Given the description of an element on the screen output the (x, y) to click on. 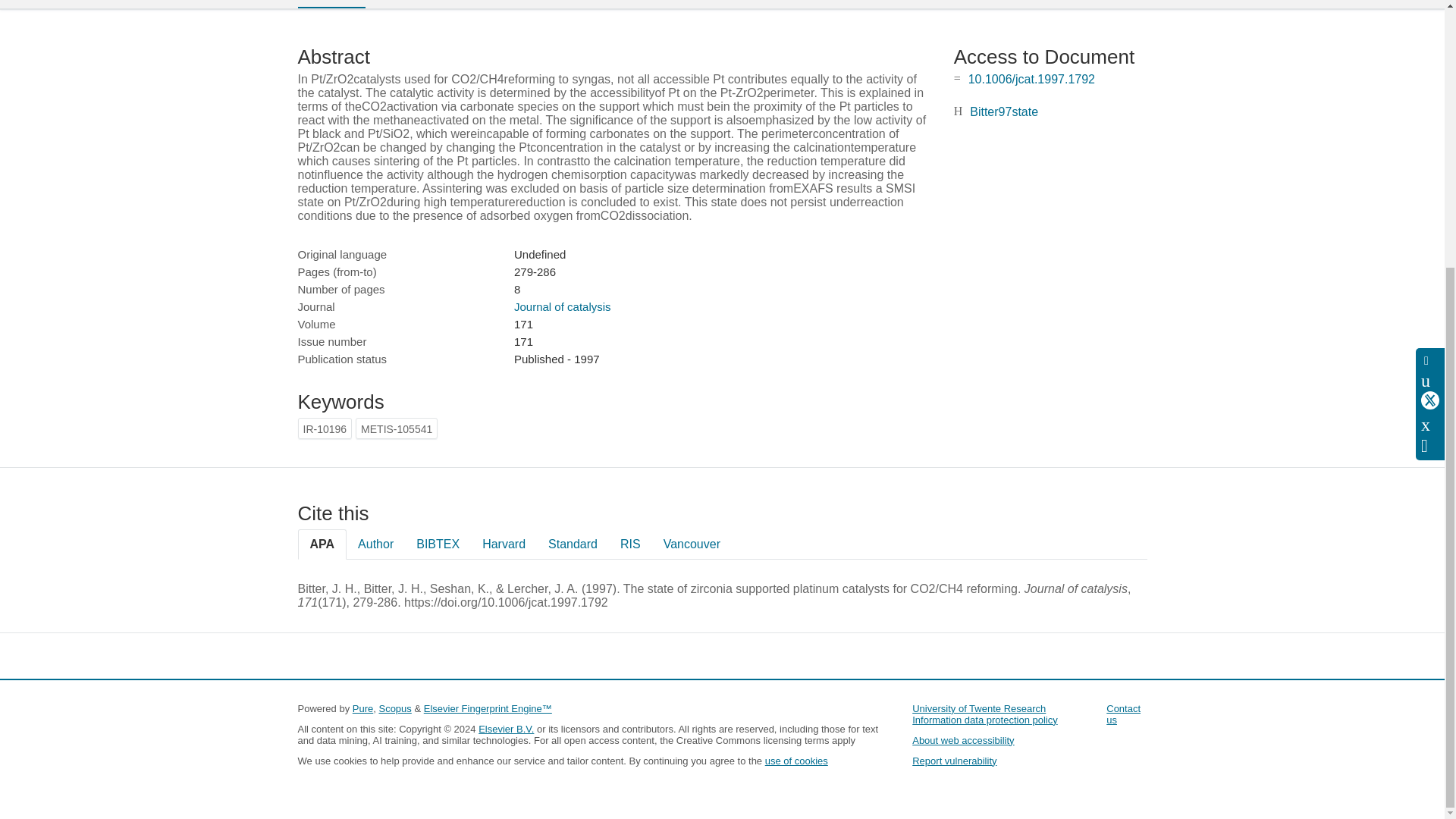
Elsevier B.V. (506, 728)
Journal of catalysis (562, 306)
About web accessibility (962, 740)
Overview (331, 4)
Bitter97state (1003, 111)
Pure (362, 708)
Fingerprint (419, 3)
Report vulnerability (953, 760)
use of cookies (796, 760)
Contact us (1123, 713)
Scopus (394, 708)
